Given the description of an element on the screen output the (x, y) to click on. 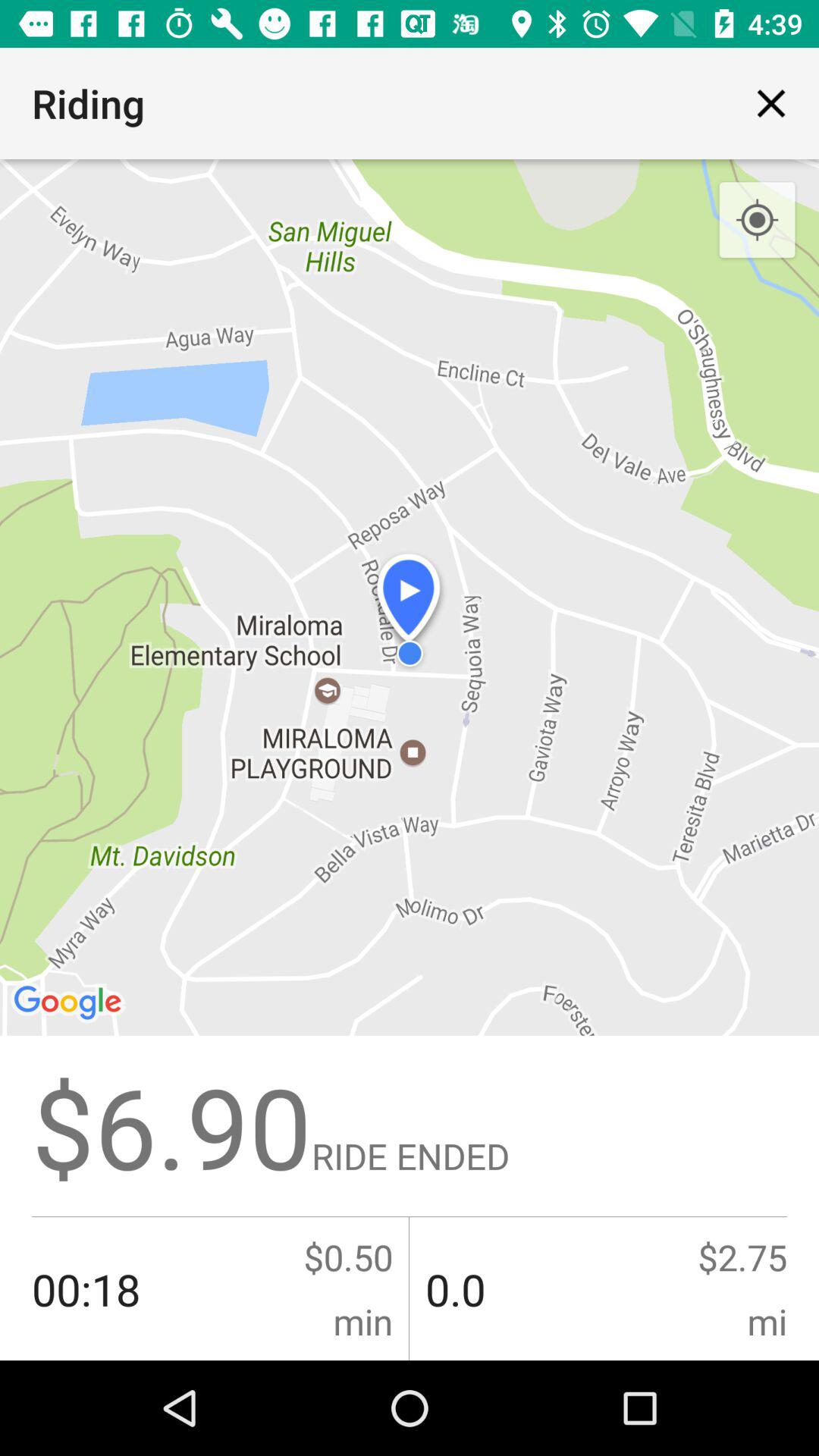
tap the icon to the right of riding (771, 103)
